Given the description of an element on the screen output the (x, y) to click on. 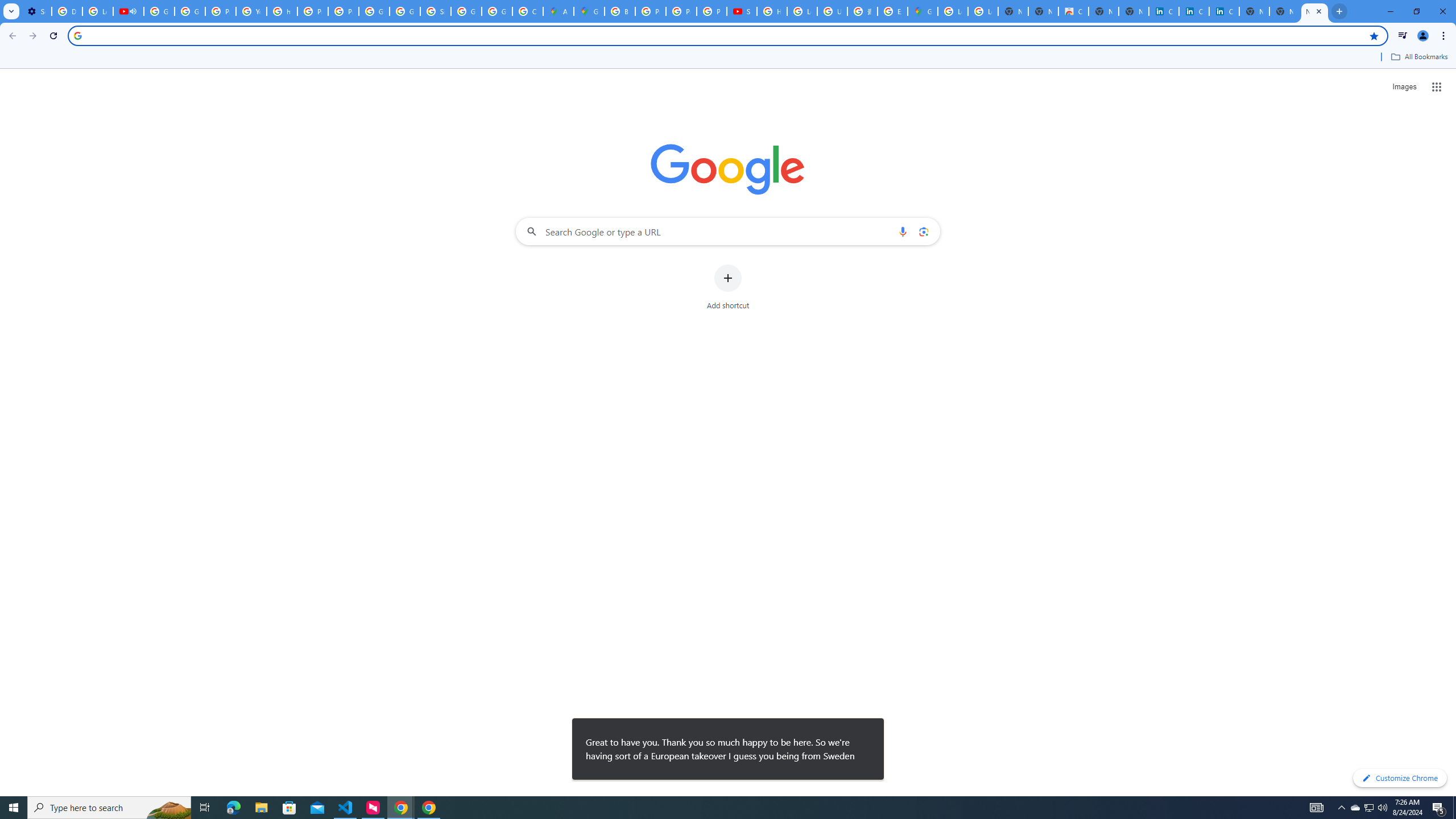
Privacy Help Center - Policies Help (650, 11)
Google Maps (922, 11)
Google Maps (589, 11)
Privacy Help Center - Policies Help (312, 11)
Privacy Help Center - Policies Help (681, 11)
